Given the description of an element on the screen output the (x, y) to click on. 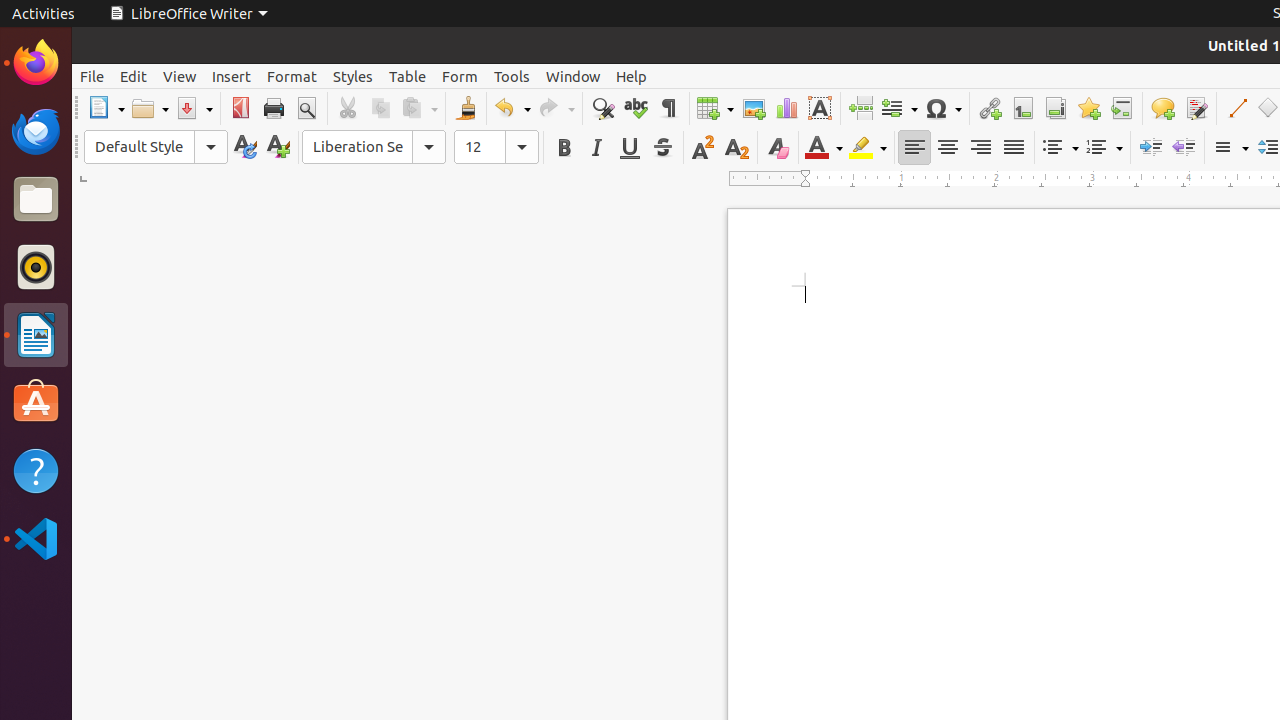
Font Color Element type: push-button (824, 147)
Center Element type: toggle-button (947, 147)
Footnote Element type: push-button (1022, 108)
Hyperlink Element type: toggle-button (989, 108)
Font Name Element type: combo-box (374, 147)
